Given the description of an element on the screen output the (x, y) to click on. 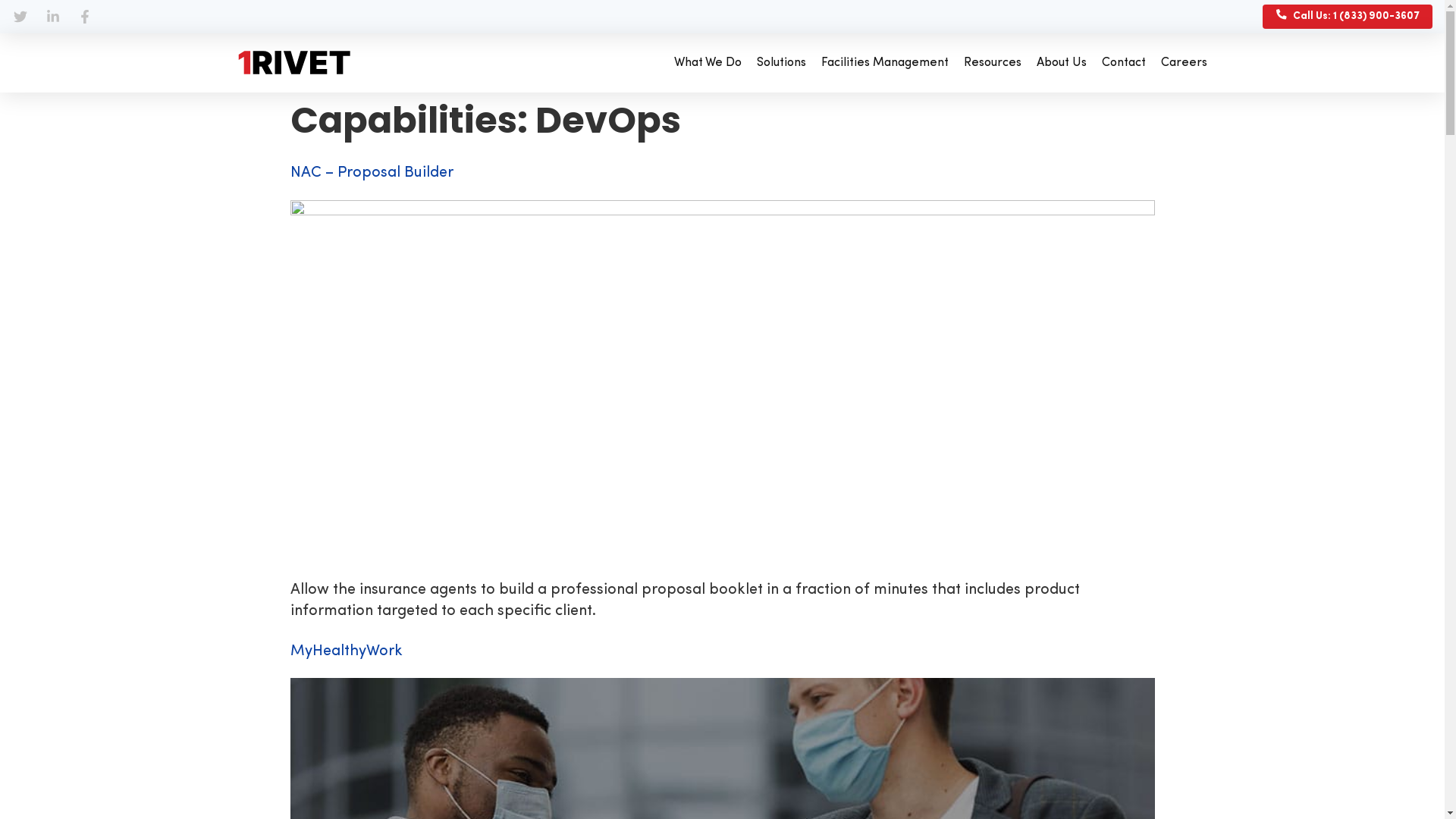
MyHealthyWork Element type: text (345, 650)
About Us Element type: text (1061, 62)
What We Do Element type: text (707, 62)
01-1rivet black logo Element type: hover (293, 62)
Solutions Element type: text (781, 62)
Contact Element type: text (1123, 62)
Resources Element type: text (992, 62)
Facilities Management Element type: text (884, 62)
Call Us: 1 (833) 900-3607 Element type: text (1347, 16)
Careers Element type: text (1184, 62)
